Given the description of an element on the screen output the (x, y) to click on. 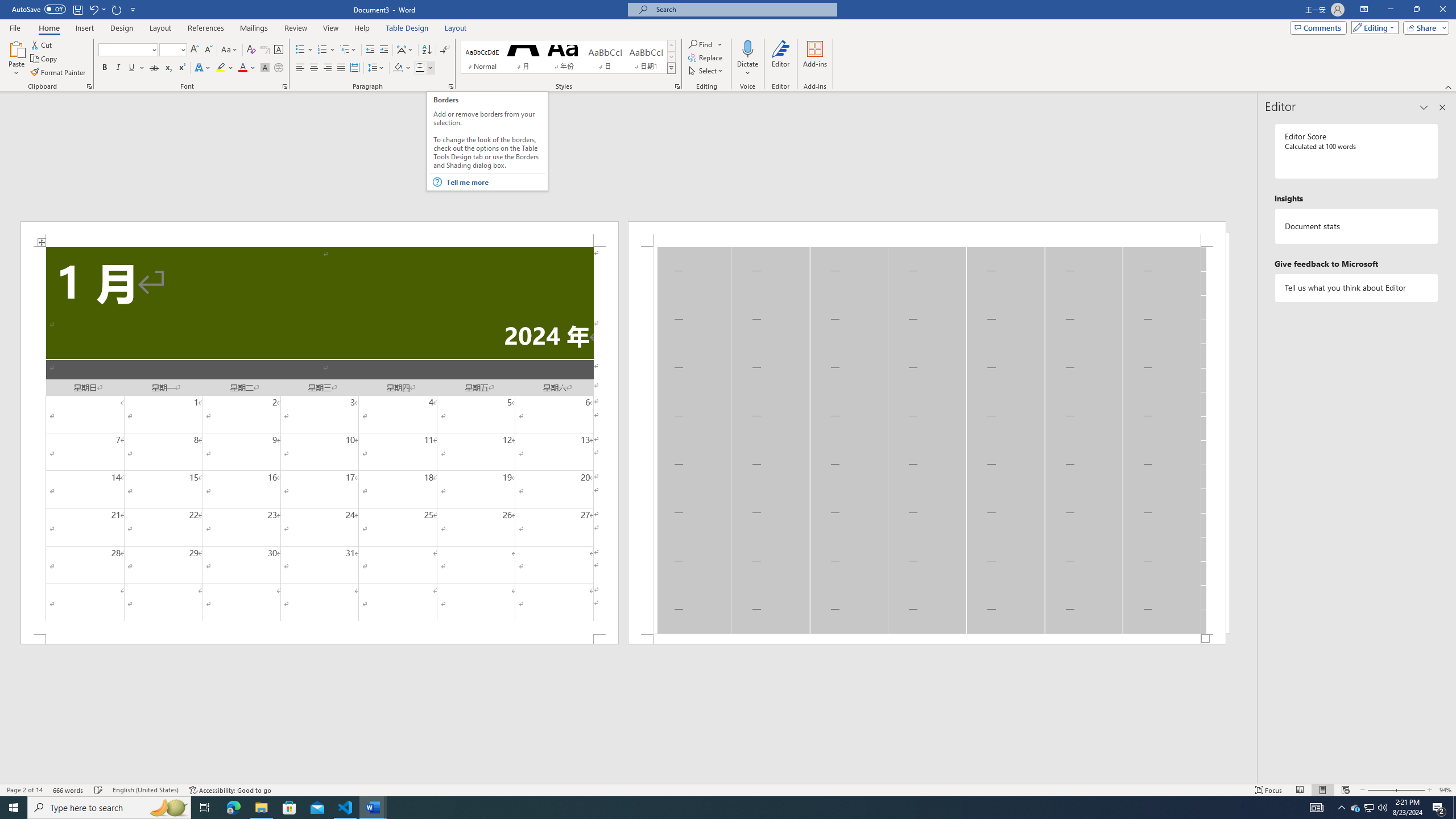
Select (705, 69)
Center (313, 67)
Open (182, 49)
Sort... (426, 49)
Table Design (407, 28)
Language English (United States) (145, 790)
Format Painter (58, 72)
